Given the description of an element on the screen output the (x, y) to click on. 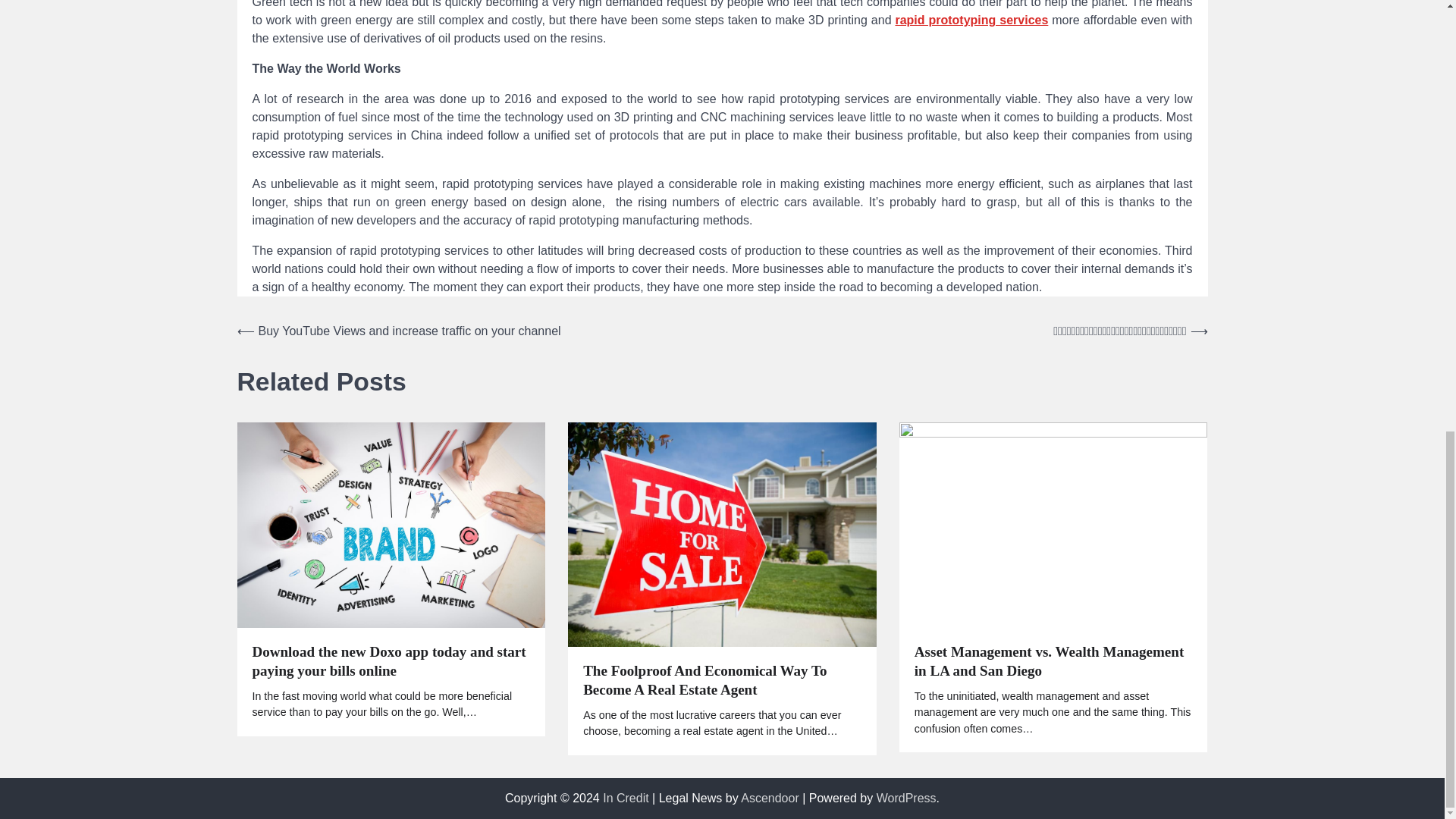
Ascendoor (770, 797)
rapid prototyping services (971, 19)
In Credit (624, 797)
WordPress (906, 797)
Asset Management vs. Wealth Management in LA and San Diego (1053, 661)
